Given the description of an element on the screen output the (x, y) to click on. 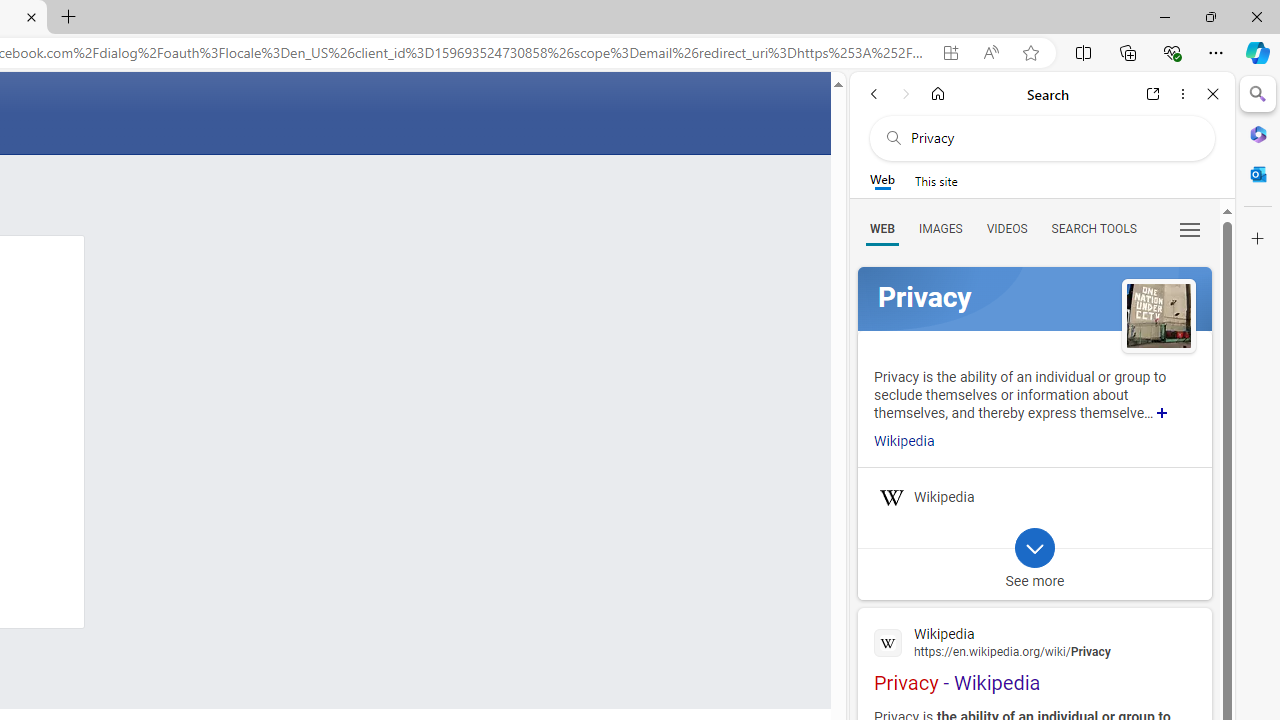
Global web icon (888, 642)
